Given the description of an element on the screen output the (x, y) to click on. 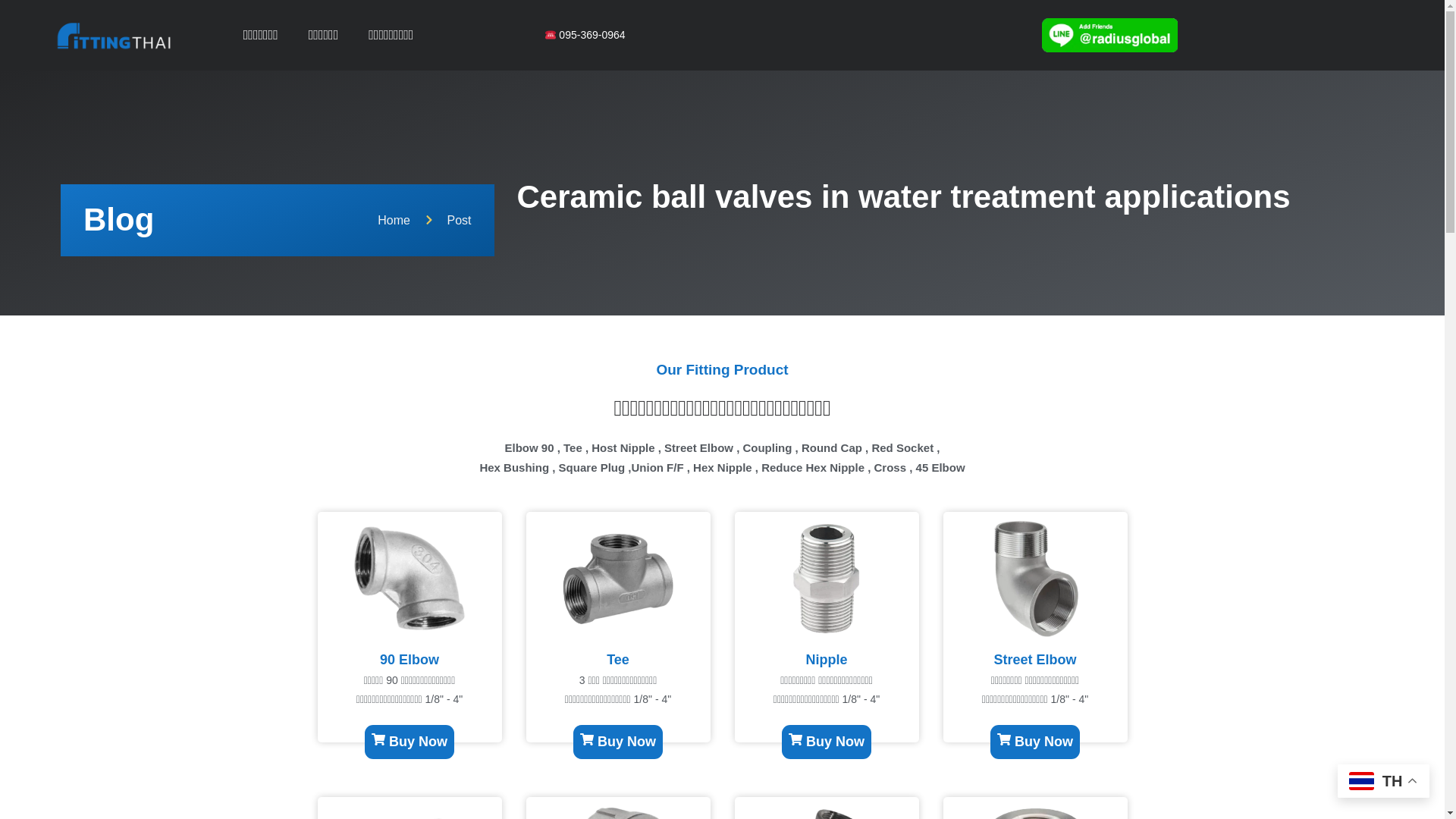
Buy Now (152, 741)
Buy Now (376, 741)
Post (446, 220)
